Given the description of an element on the screen output the (x, y) to click on. 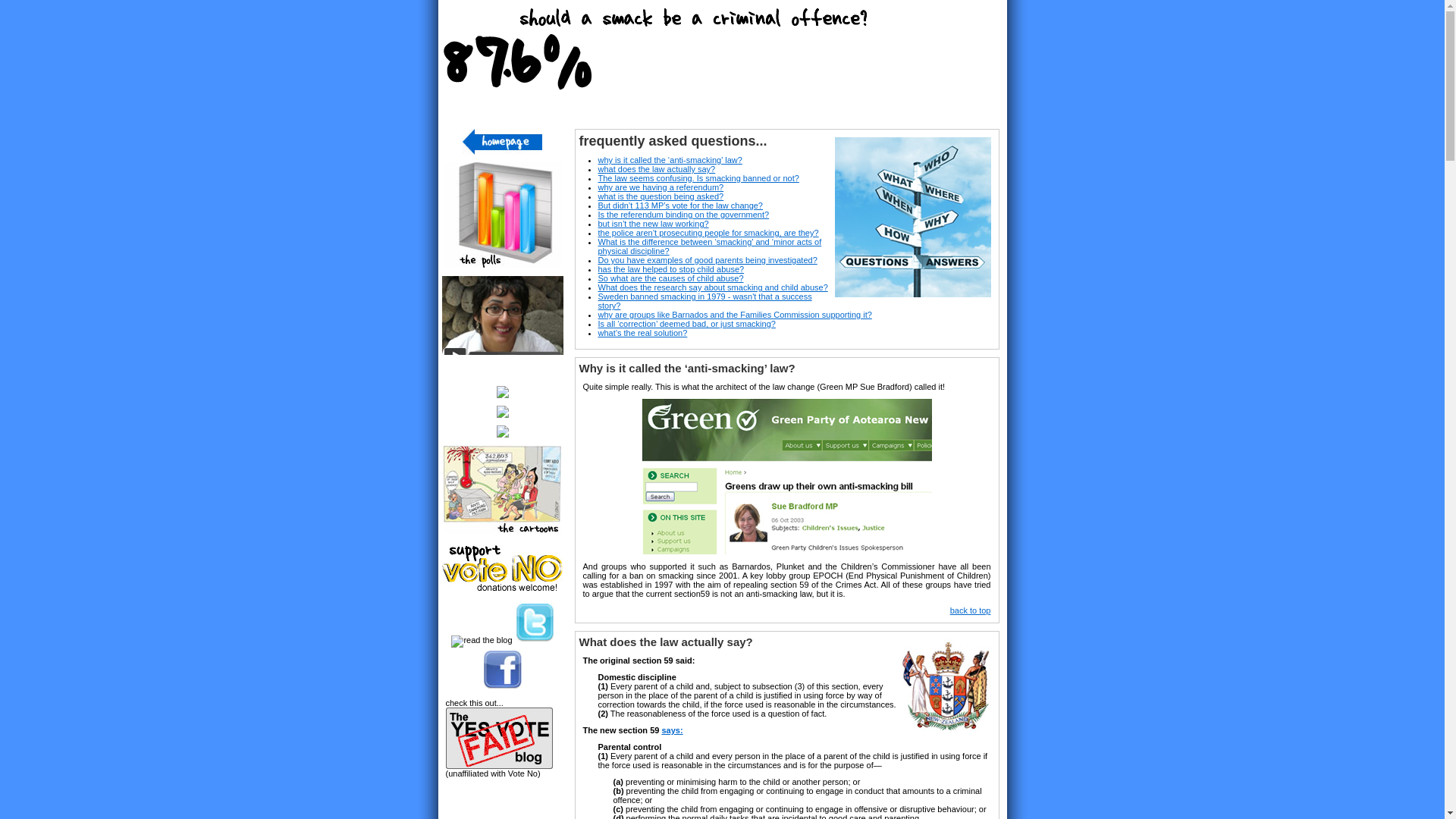
why are we having a referendum? (659, 186)
quotes from the debate... (502, 433)
click here to return to home page (502, 151)
has the law helped to stop child abuse? (670, 268)
what is the question being asked? (659, 195)
donate here (501, 587)
Is the referendum binding on the government? (682, 214)
summary of polls (502, 265)
Sheryl Savill video (501, 375)
back to top (970, 610)
what does the law actually say? (655, 168)
media releases (502, 414)
The law seems confusing. Is smacking banned or not? (696, 177)
So what are the causes of child abuse? (669, 277)
